Given the description of an element on the screen output the (x, y) to click on. 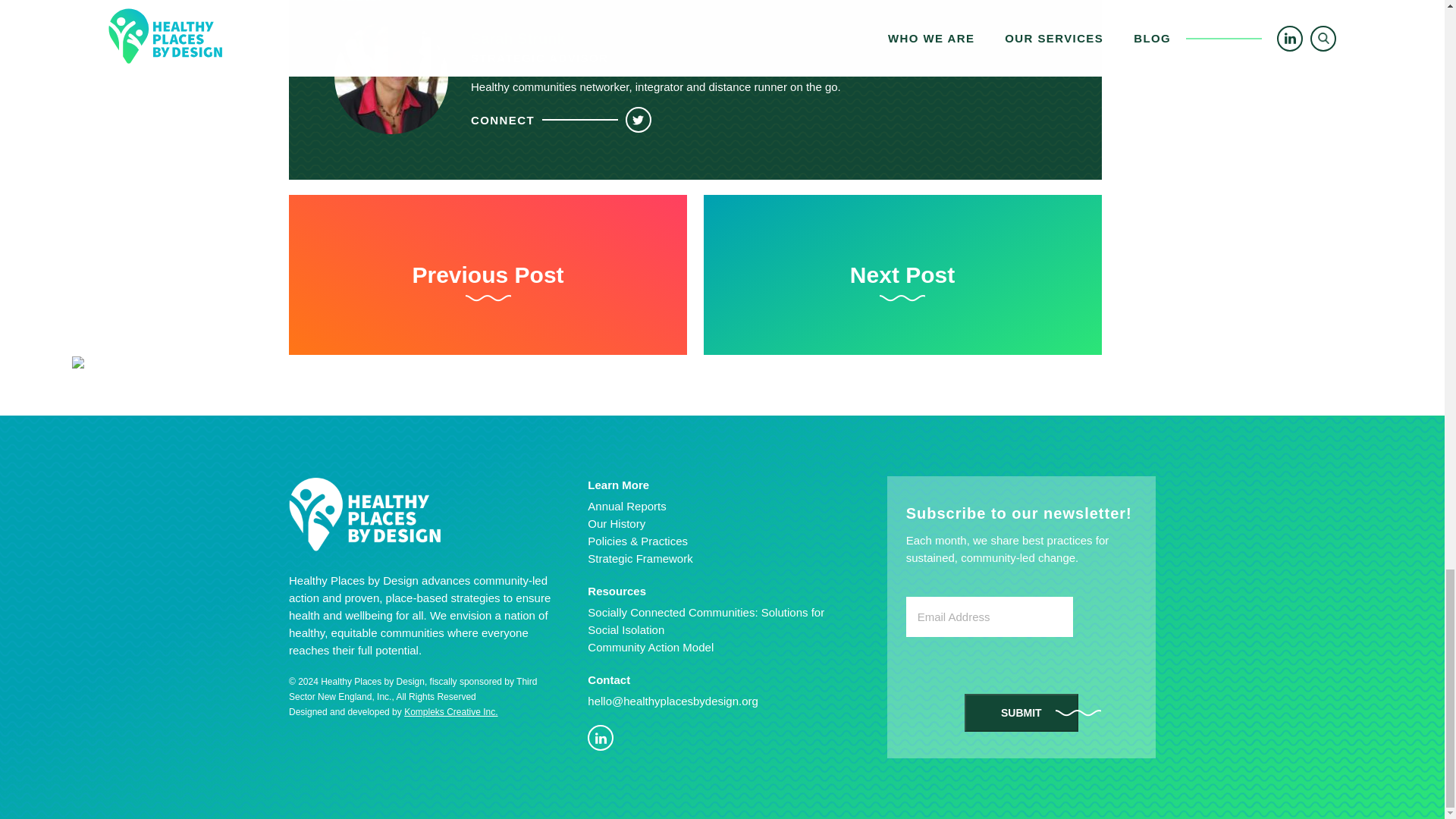
Previous Post (488, 275)
Sarah Strunk (517, 38)
Submit (1020, 712)
